Given the description of an element on the screen output the (x, y) to click on. 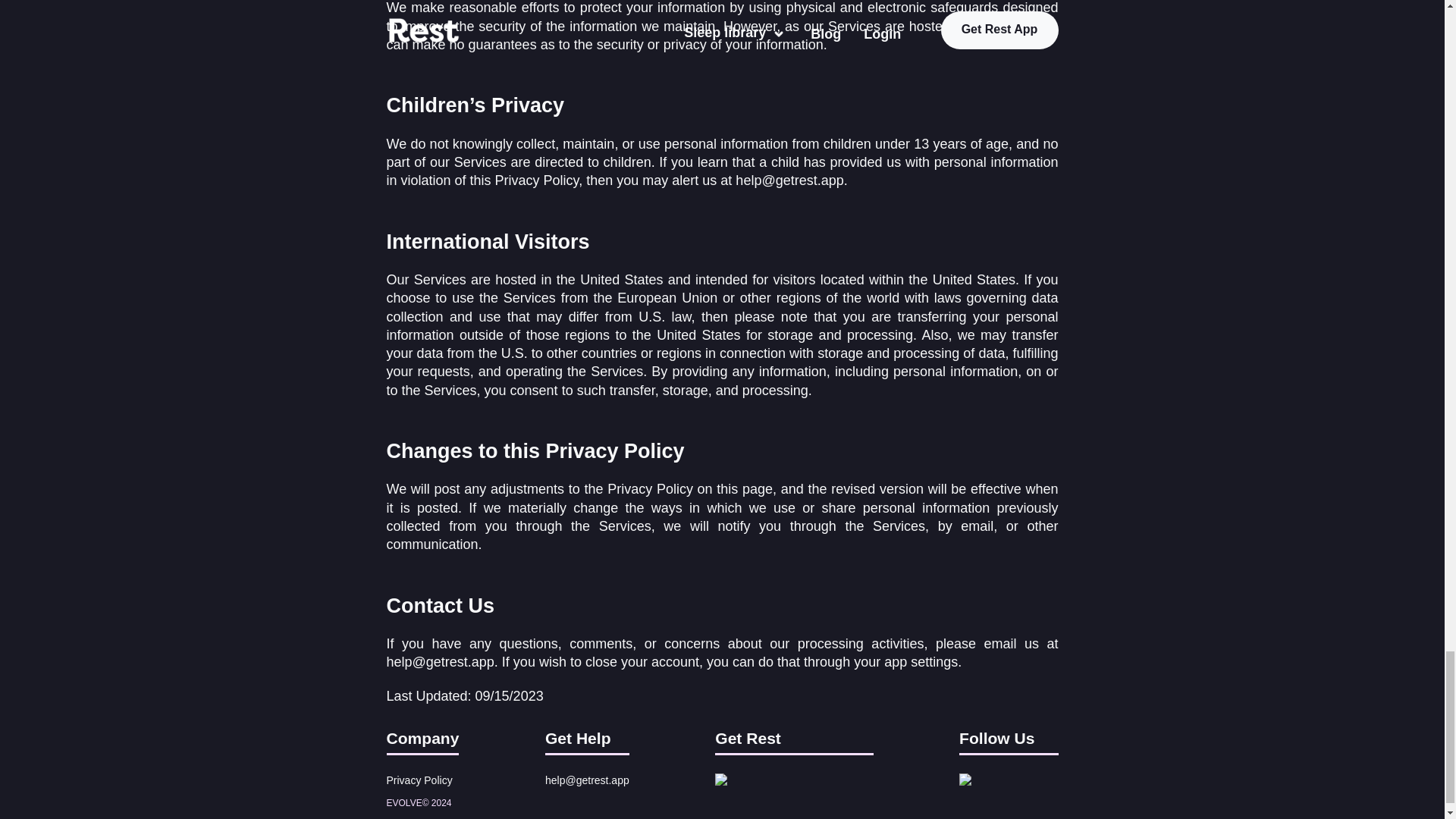
Privacy Policy (419, 779)
